Given the description of an element on the screen output the (x, y) to click on. 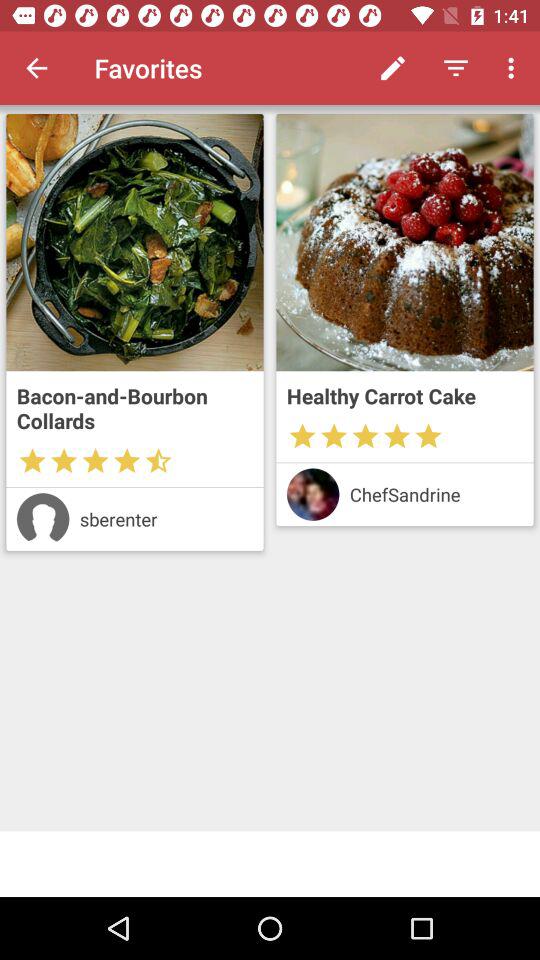
open recipe (134, 242)
